Given the description of an element on the screen output the (x, y) to click on. 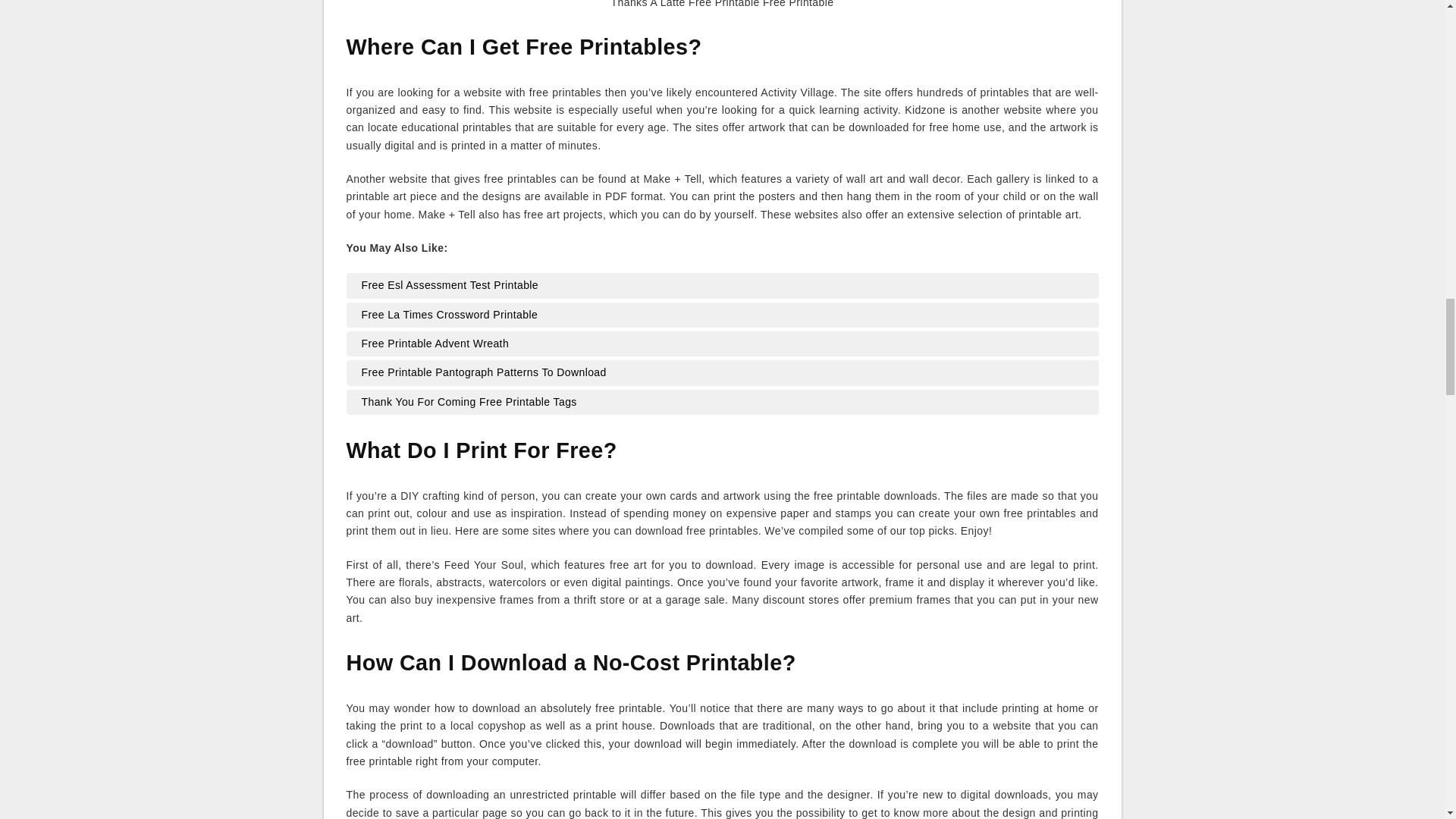
Free Printable Pantograph Patterns To Download (721, 372)
Free Printable Advent Wreath (721, 343)
Free Esl Assessment Test Printable (721, 285)
Free La Times Crossword Printable (721, 314)
Thank You For Coming Free Printable Tags (721, 402)
